Given the description of an element on the screen output the (x, y) to click on. 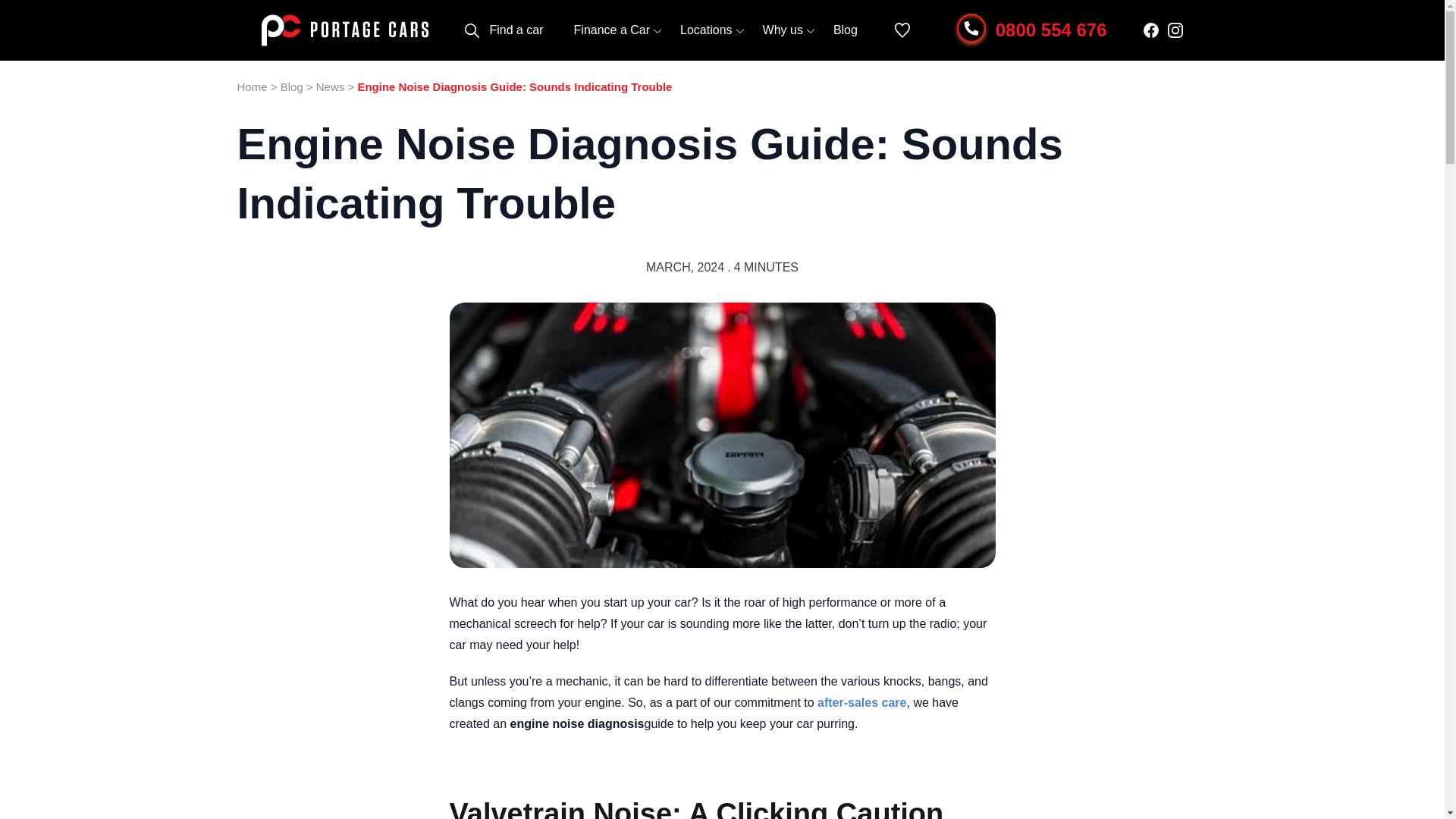
Why us (782, 30)
Find a car (516, 30)
Portage Cars (344, 30)
Blog (844, 30)
Locations (705, 30)
Finance a Car (611, 30)
